Given the description of an element on the screen output the (x, y) to click on. 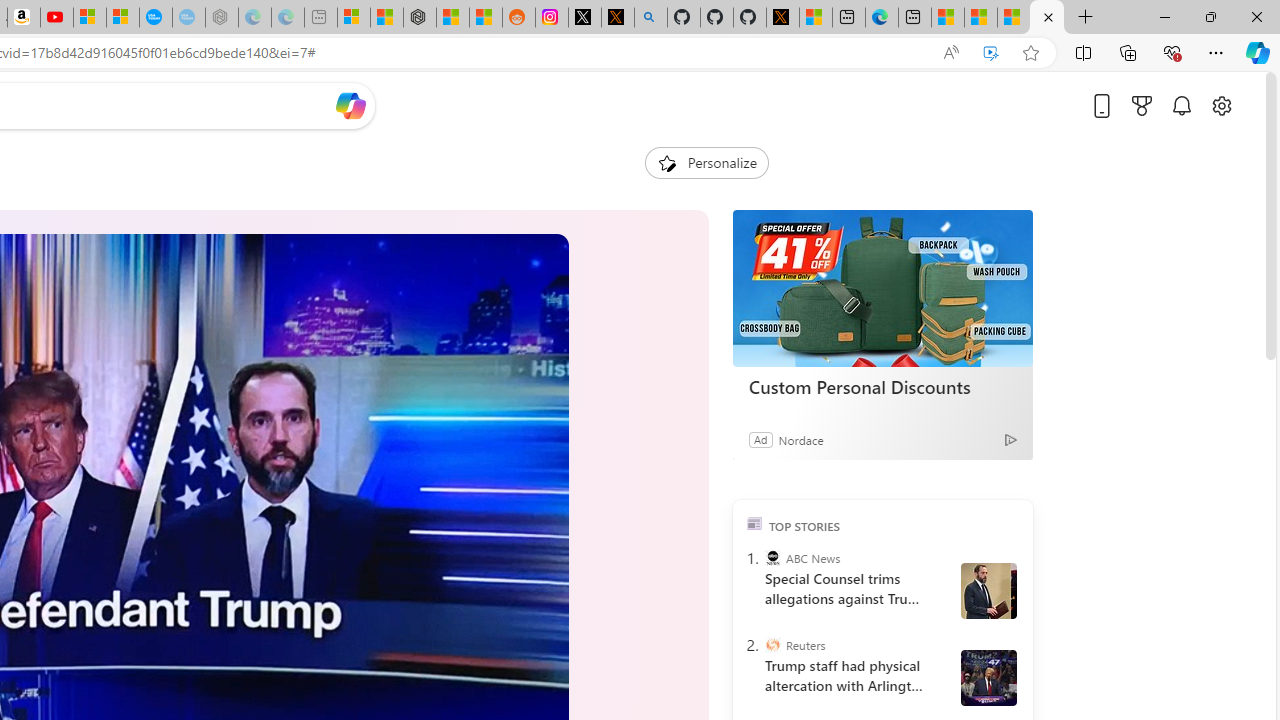
Notifications (1181, 105)
Opinion: Op-Ed and Commentary - USA TODAY (155, 17)
Open Copilot (350, 105)
Day 1: Arriving in Yemen (surreal to be here) - YouTube (56, 17)
Nordace - Nordace has arrived Hong Kong - Sleeping (222, 17)
Collections (1128, 52)
Open settings (1221, 105)
Ad Choice (1010, 439)
Custom Personal Discounts (882, 386)
Microsoft rewards (1142, 105)
Shanghai, China Weather trends | Microsoft Weather (485, 17)
